Given the description of an element on the screen output the (x, y) to click on. 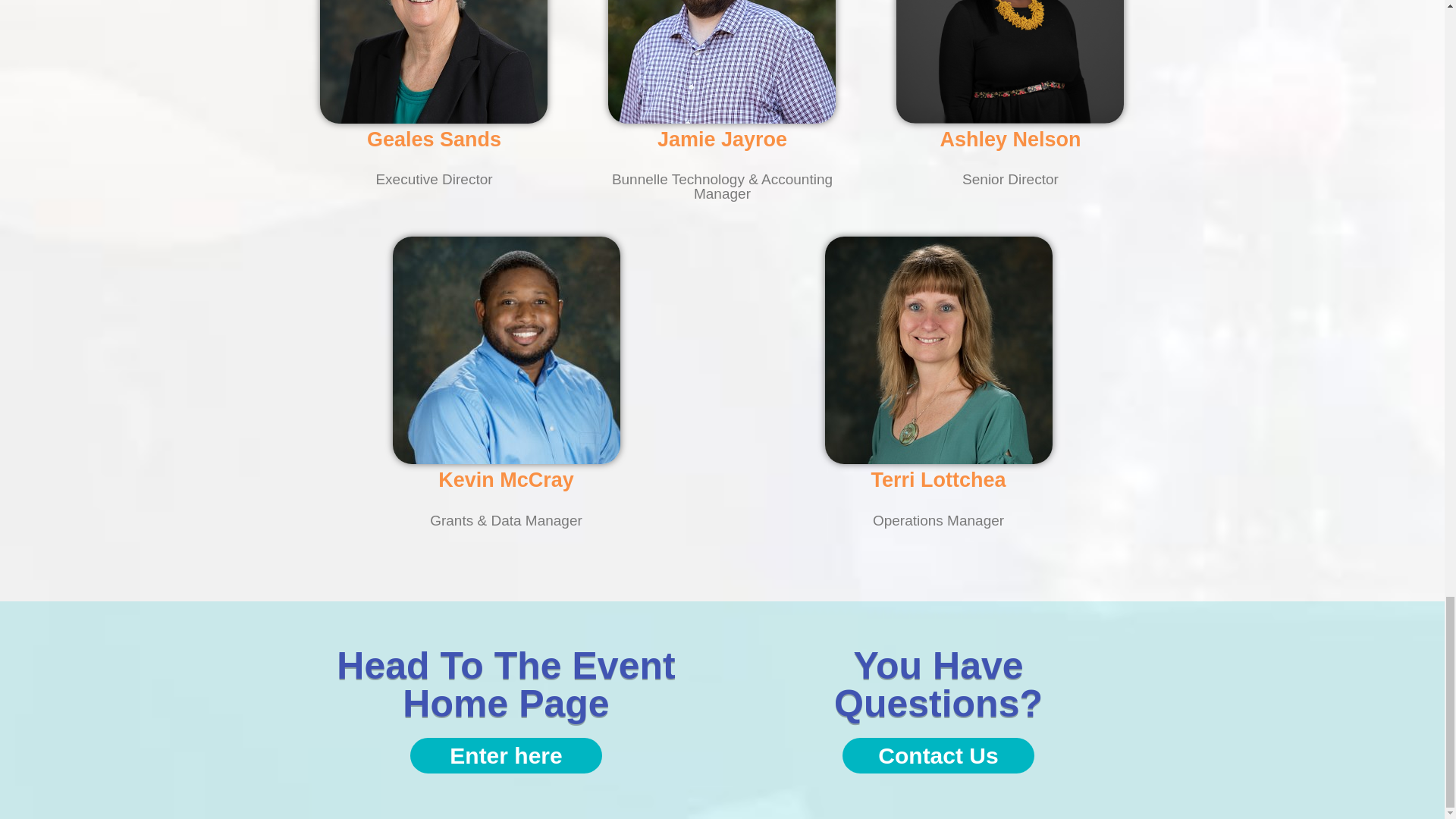
Enter here (506, 755)
Contact Us (938, 755)
